Given the description of an element on the screen output the (x, y) to click on. 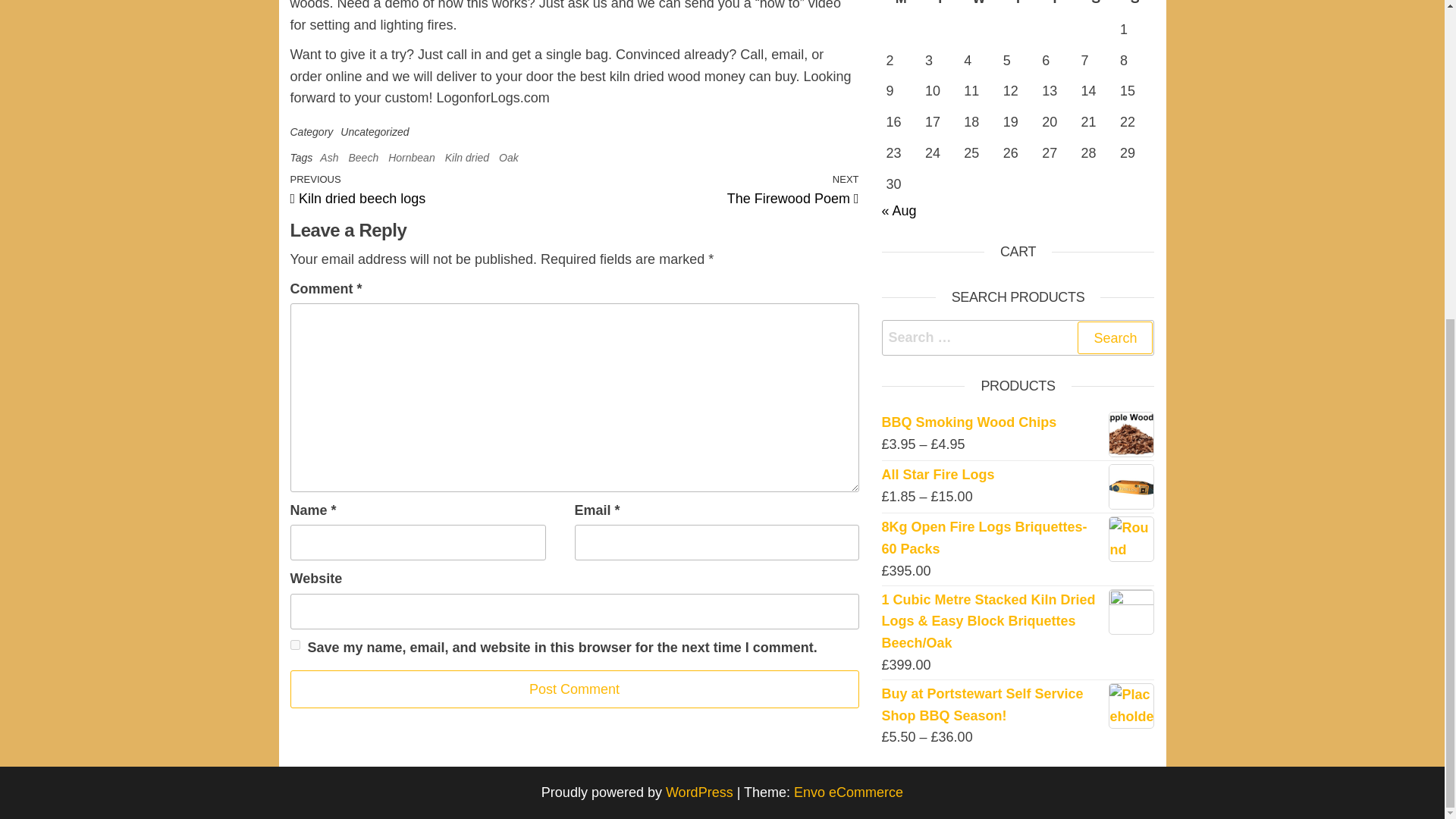
Post Comment (574, 689)
8Kg Open Fire Logs Briquettes- 60 Packs (1017, 538)
Wednesday (978, 7)
yes (294, 644)
Ash (328, 157)
Uncategorized (374, 132)
Monday (900, 7)
Hornbean (411, 157)
BBQ Smoking Wood Chips (1017, 422)
Search (1115, 337)
